Given the description of an element on the screen output the (x, y) to click on. 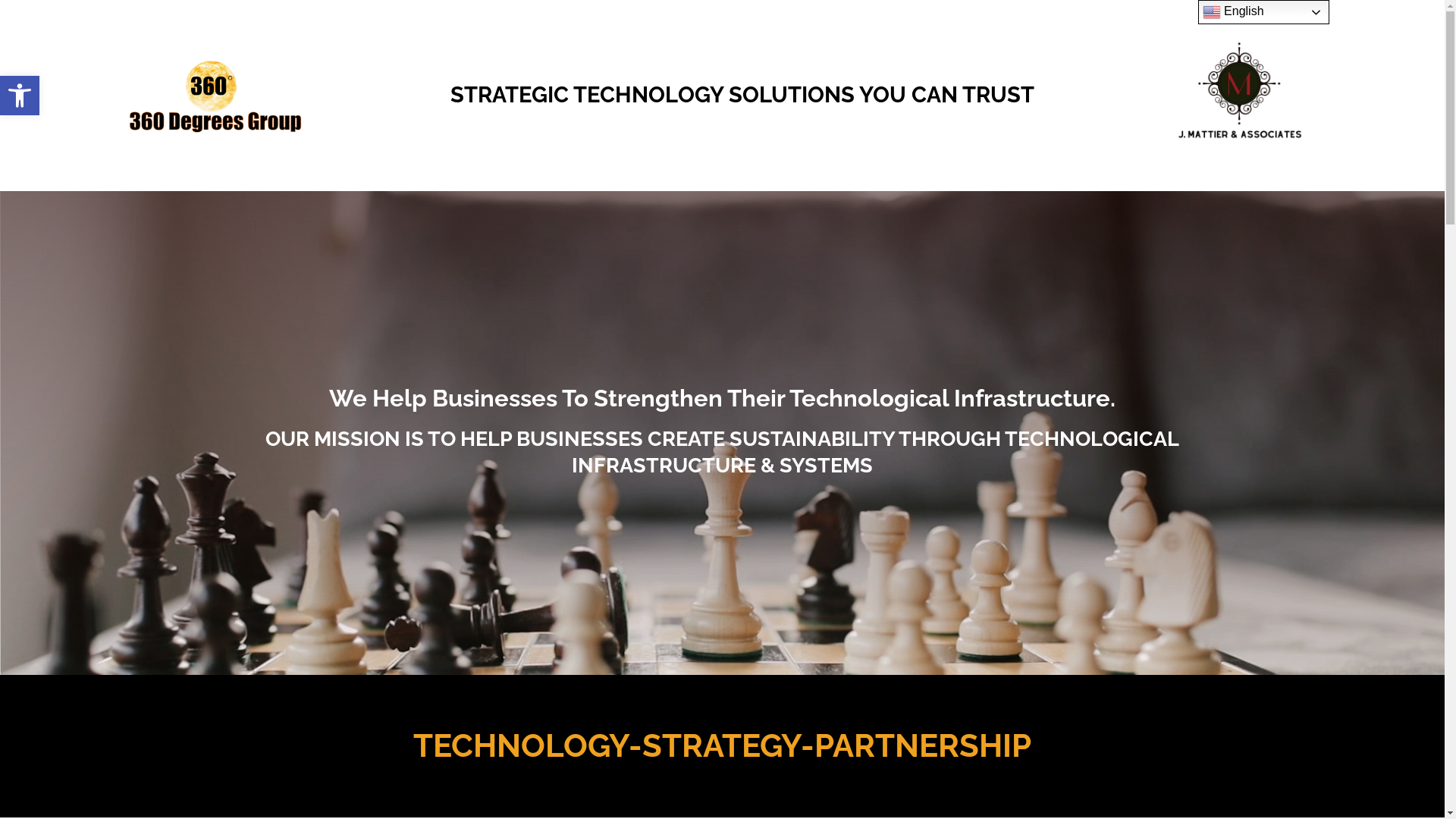
English Element type: text (1263, 12)
Open toolbar
Accessibility Tools Element type: text (19, 95)
